Given the description of an element on the screen output the (x, y) to click on. 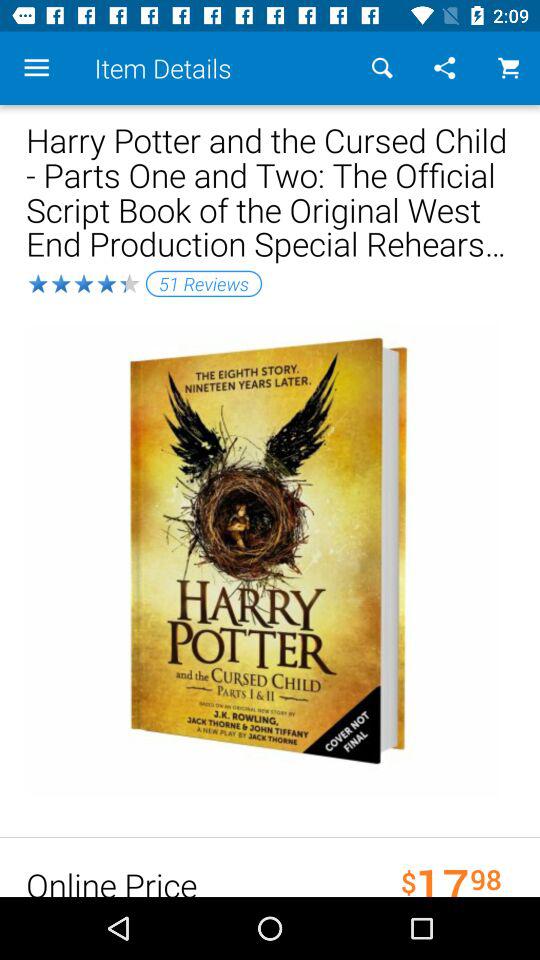
turn on the 51 reviews item (203, 283)
